Given the description of an element on the screen output the (x, y) to click on. 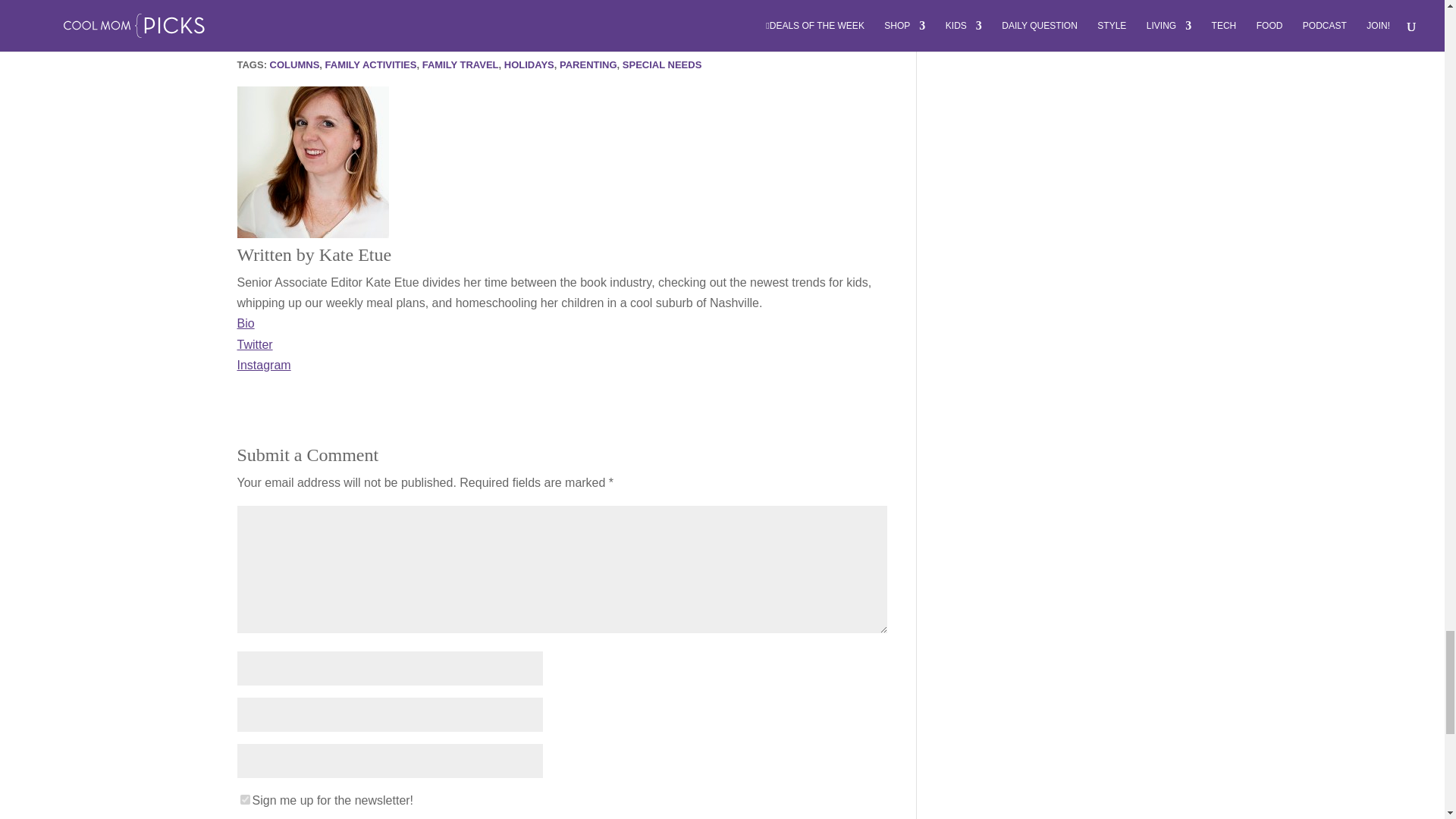
1 (244, 799)
